Given the description of an element on the screen output the (x, y) to click on. 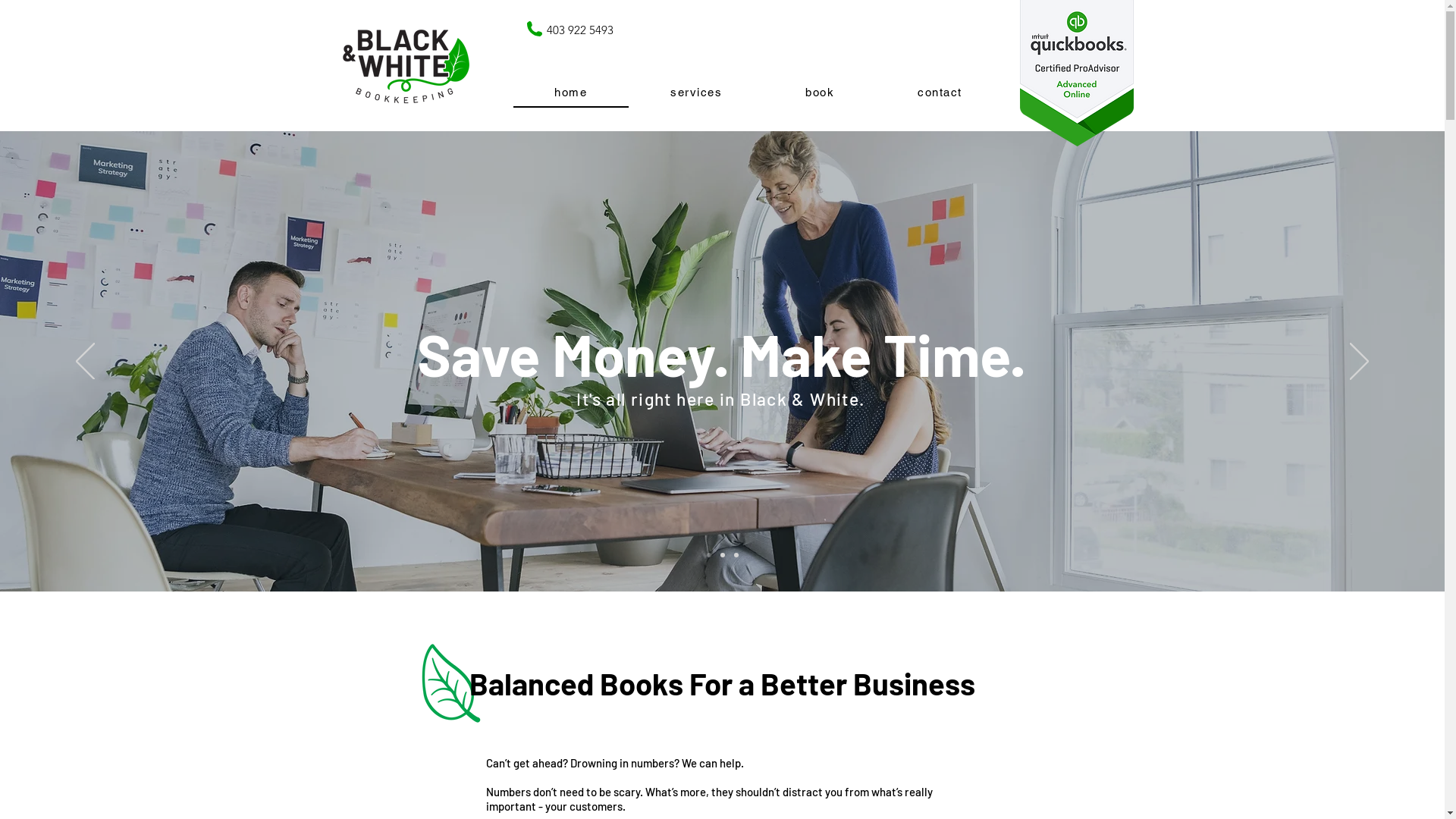
services Element type: text (695, 92)
book Element type: text (819, 92)
home Element type: text (570, 92)
contact Element type: text (939, 92)
